Given the description of an element on the screen output the (x, y) to click on. 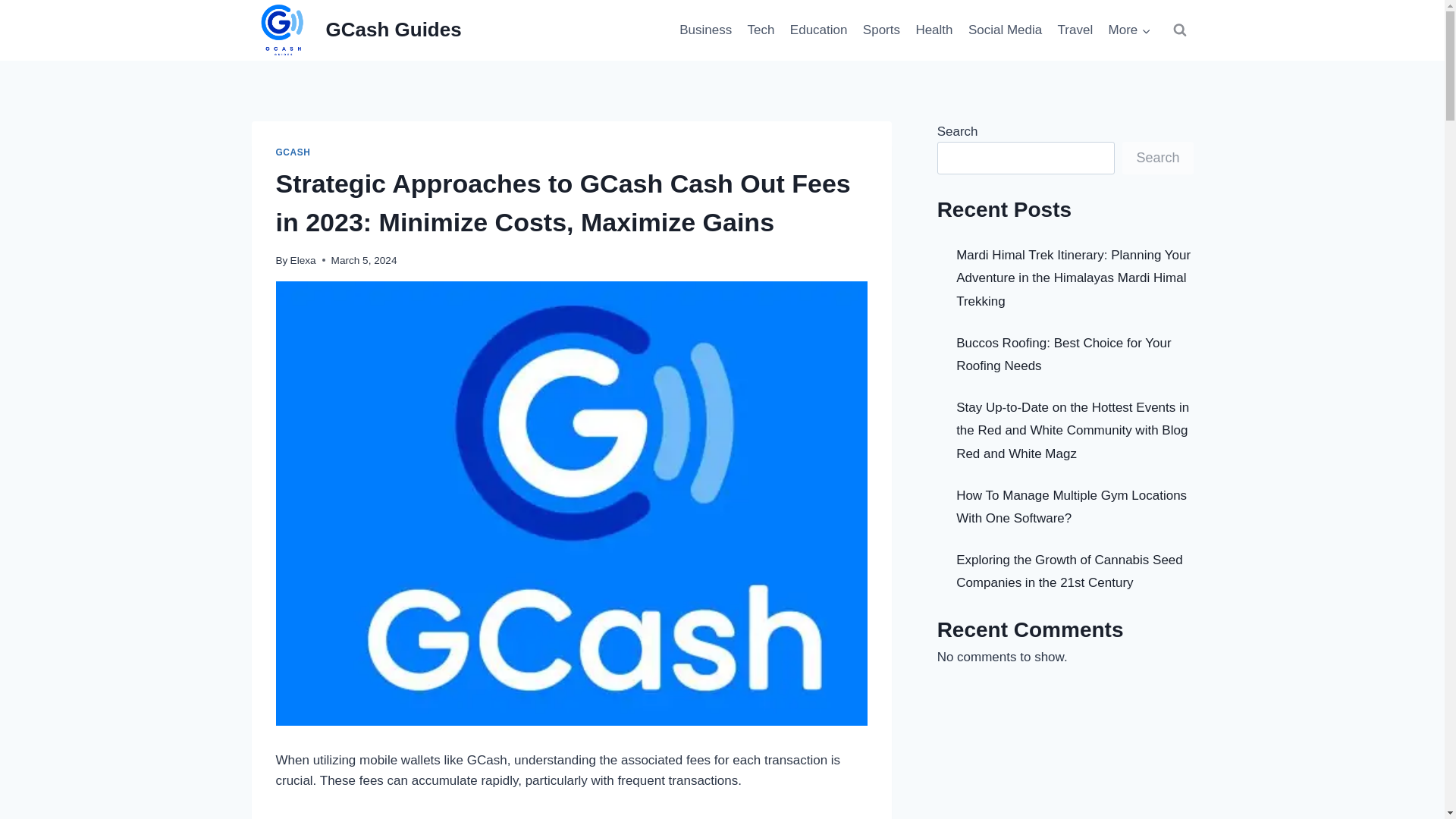
Tech (760, 30)
Sports (882, 30)
GCash Guides (356, 29)
Travel (1074, 30)
Education (819, 30)
Social Media (1004, 30)
More (1128, 30)
Business (705, 30)
Health (933, 30)
Elexa (302, 260)
GCASH (293, 152)
